Given the description of an element on the screen output the (x, y) to click on. 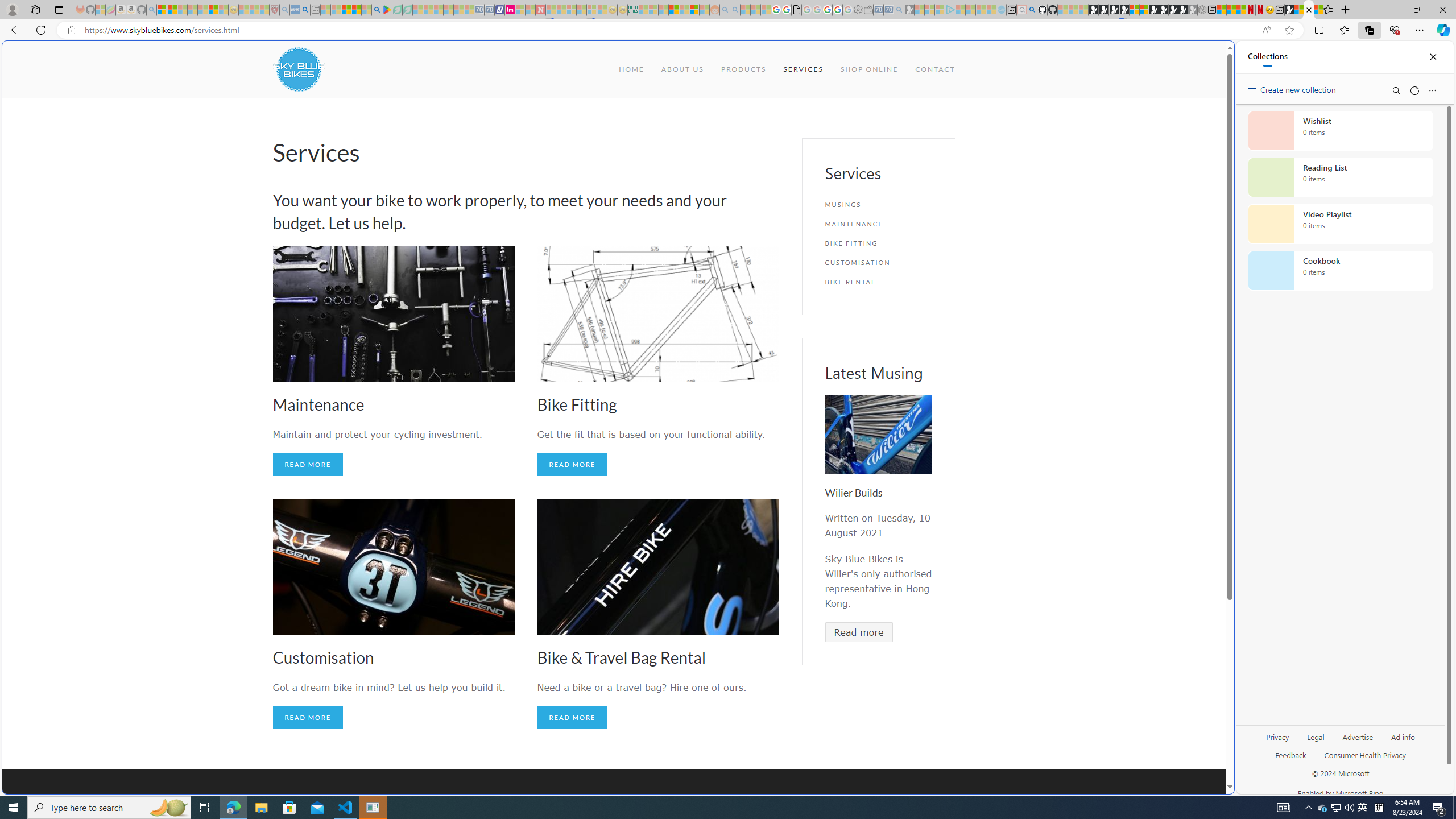
Tabs you've opened (885, 151)
HOME (631, 68)
BIKE FITTING (878, 243)
MUSINGS (878, 204)
Video Playlist collection, 0 items (1339, 223)
Bluey: Let's Play! - Apps on Google Play (387, 9)
CUSTOMISATION (878, 262)
Class: uk-navbar-item uk-logo (298, 68)
